Given the description of an element on the screen output the (x, y) to click on. 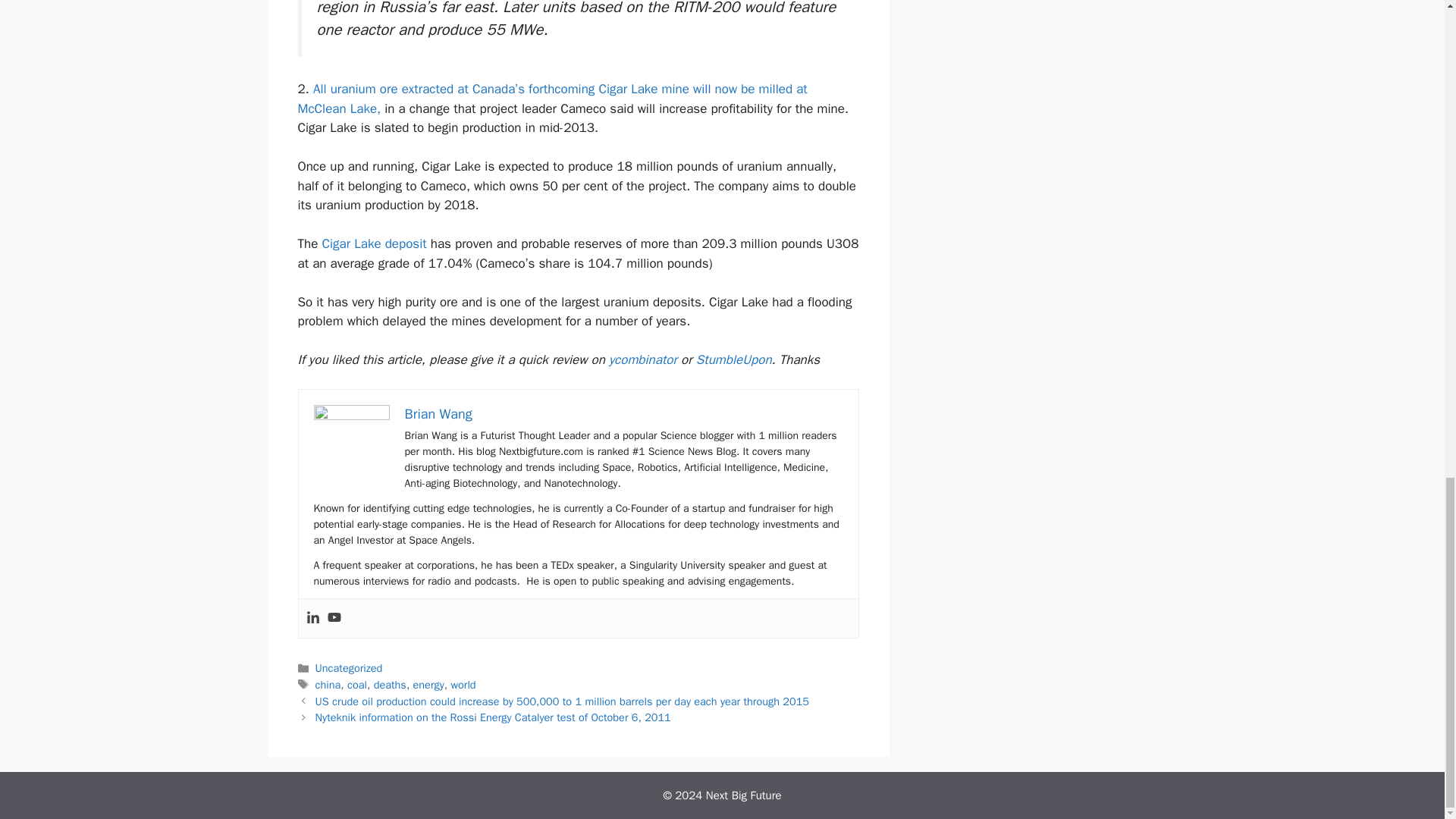
Brian Wang (437, 413)
energy (428, 684)
world (462, 684)
Uncategorized (348, 667)
StumbleUpon (733, 359)
deaths (390, 684)
coal (356, 684)
ycombinator (642, 359)
